Given the description of an element on the screen output the (x, y) to click on. 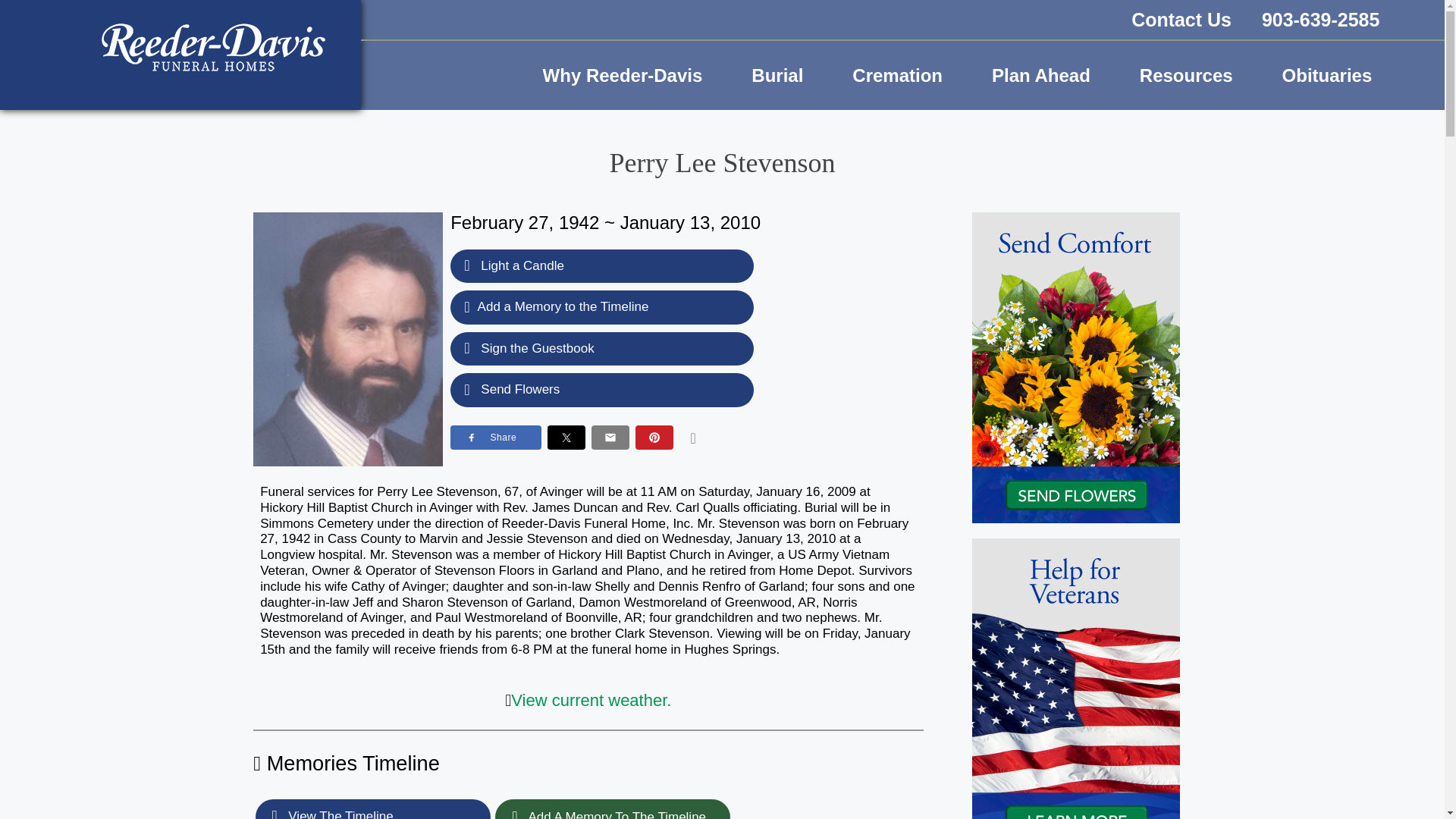
Print (692, 437)
